Given the description of an element on the screen output the (x, y) to click on. 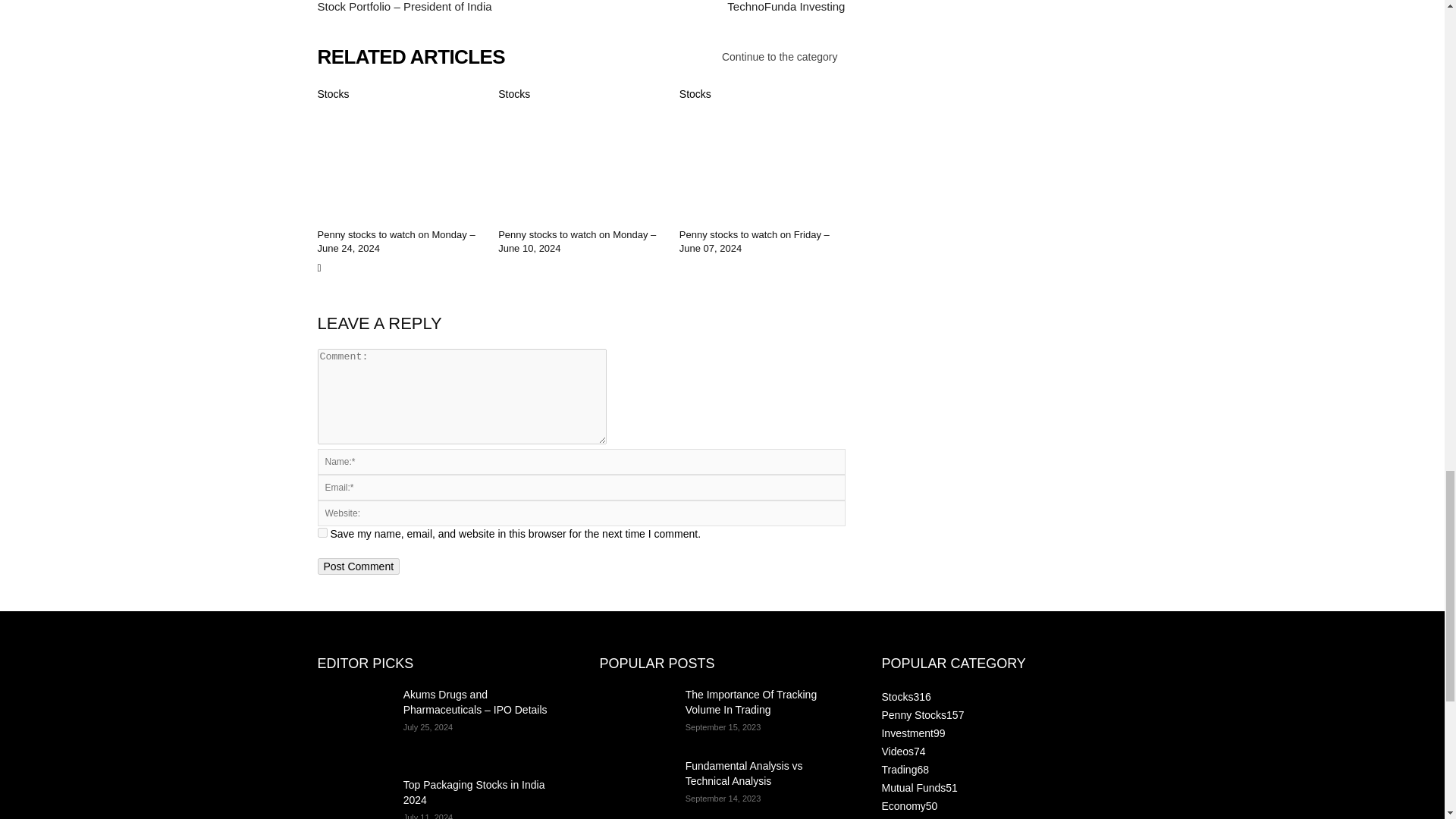
yes (321, 532)
Post Comment (357, 565)
